Given the description of an element on the screen output the (x, y) to click on. 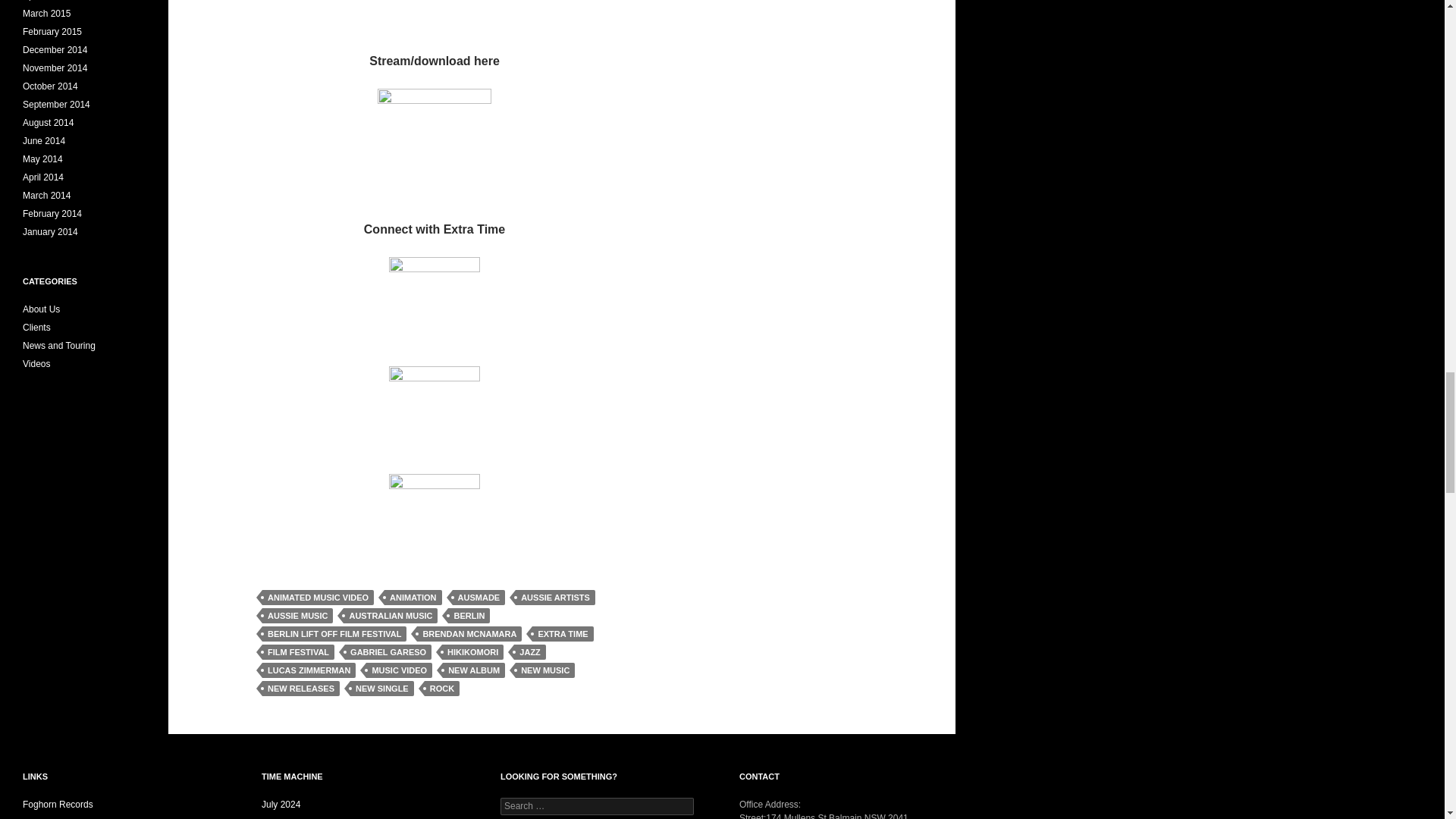
Sounds Like Cafe (58, 818)
EXTRA TIME (562, 633)
FILM FESTIVAL (298, 652)
AUSMADE (478, 597)
AUSTRALIAN MUSIC (390, 615)
AUSSIE ARTISTS (555, 597)
ANIMATION (413, 597)
NEW ALBUM (473, 670)
Search for: (597, 805)
BERLIN LIFT OFF FILM FESTIVAL (334, 633)
JAZZ (529, 652)
LUCAS ZIMMERMAN (308, 670)
NEW MUSIC (545, 670)
NEW RELEASES (300, 688)
MUSIC VIDEO (399, 670)
